Given the description of an element on the screen output the (x, y) to click on. 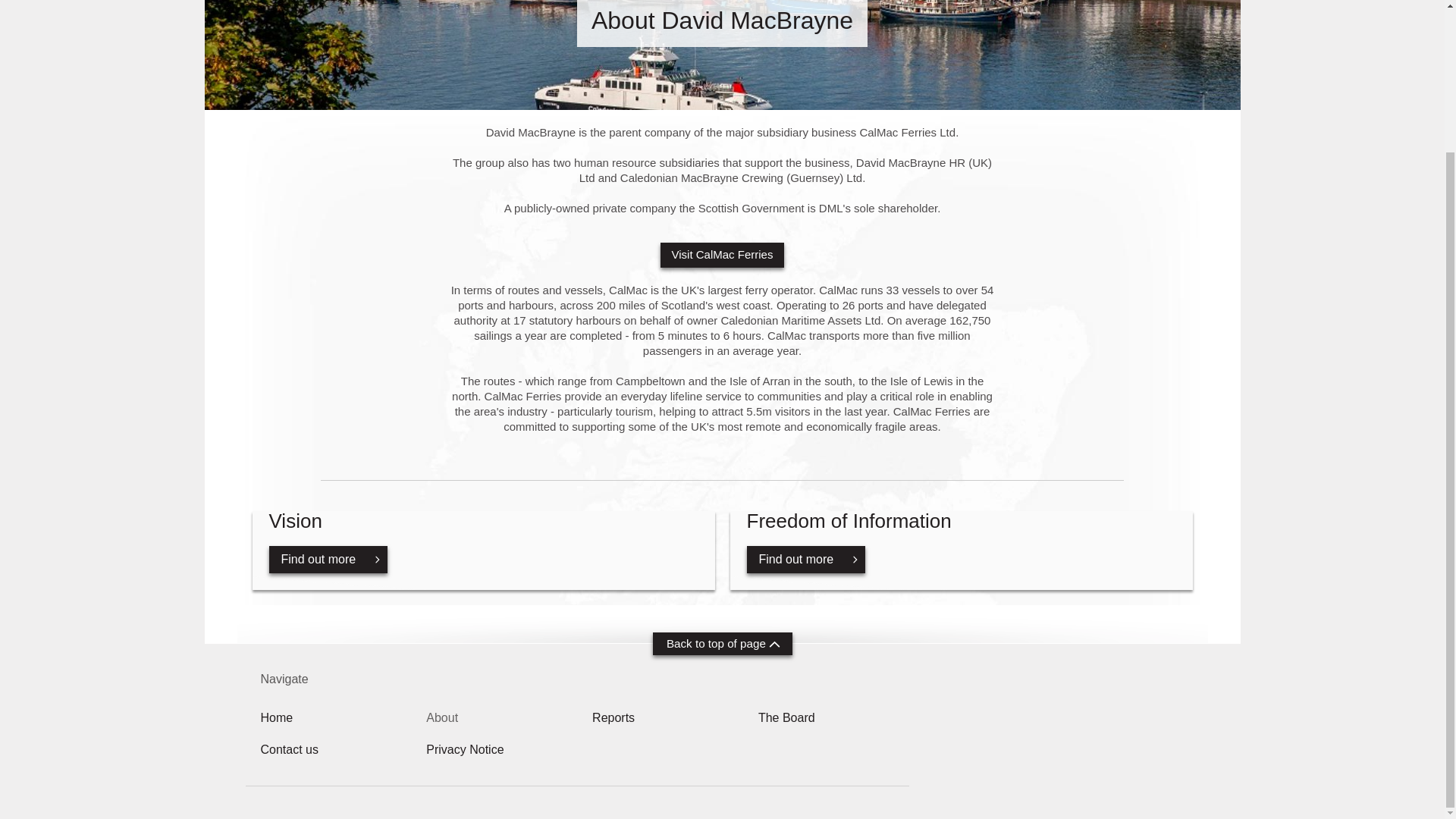
Footer link to Reports (613, 717)
Footer link to The Board (786, 717)
Footer link to Privacy Notice (960, 550)
Home (464, 748)
Contact us (277, 717)
Visit CalMac Ferries (289, 748)
Reports (722, 254)
Back to top of page (482, 550)
Link to homepage (613, 717)
Privacy Notice (722, 643)
The Board (277, 717)
Footer link to Contact us (464, 748)
